Given the description of an element on the screen output the (x, y) to click on. 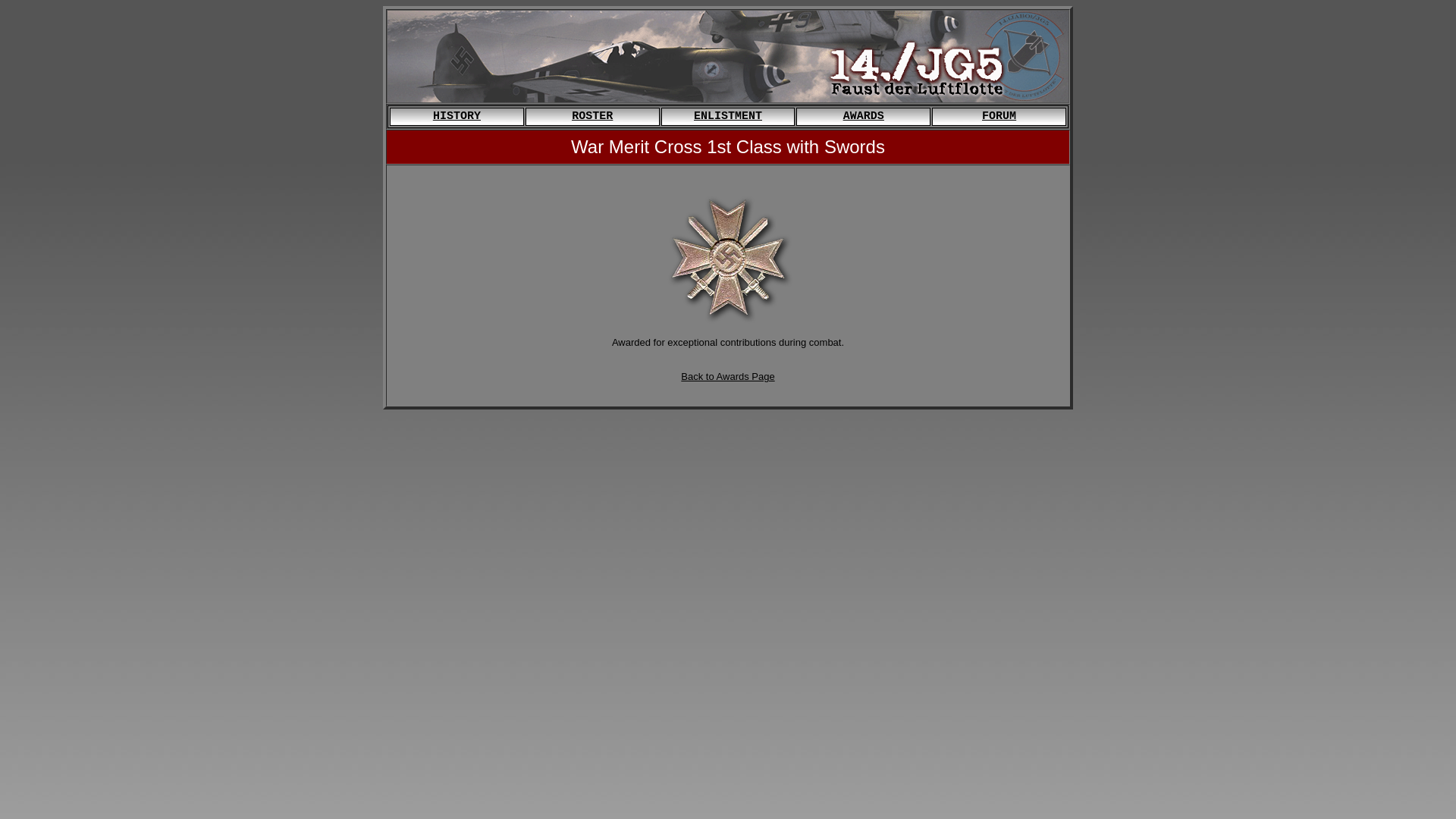
Back to Awards Page Element type: text (727, 376)
AWARDS Element type: text (863, 115)
ROSTER Element type: text (591, 115)
HISTORY Element type: text (456, 115)
ENLISTMENT Element type: text (727, 115)
FORUM Element type: text (999, 115)
